Given the description of an element on the screen output the (x, y) to click on. 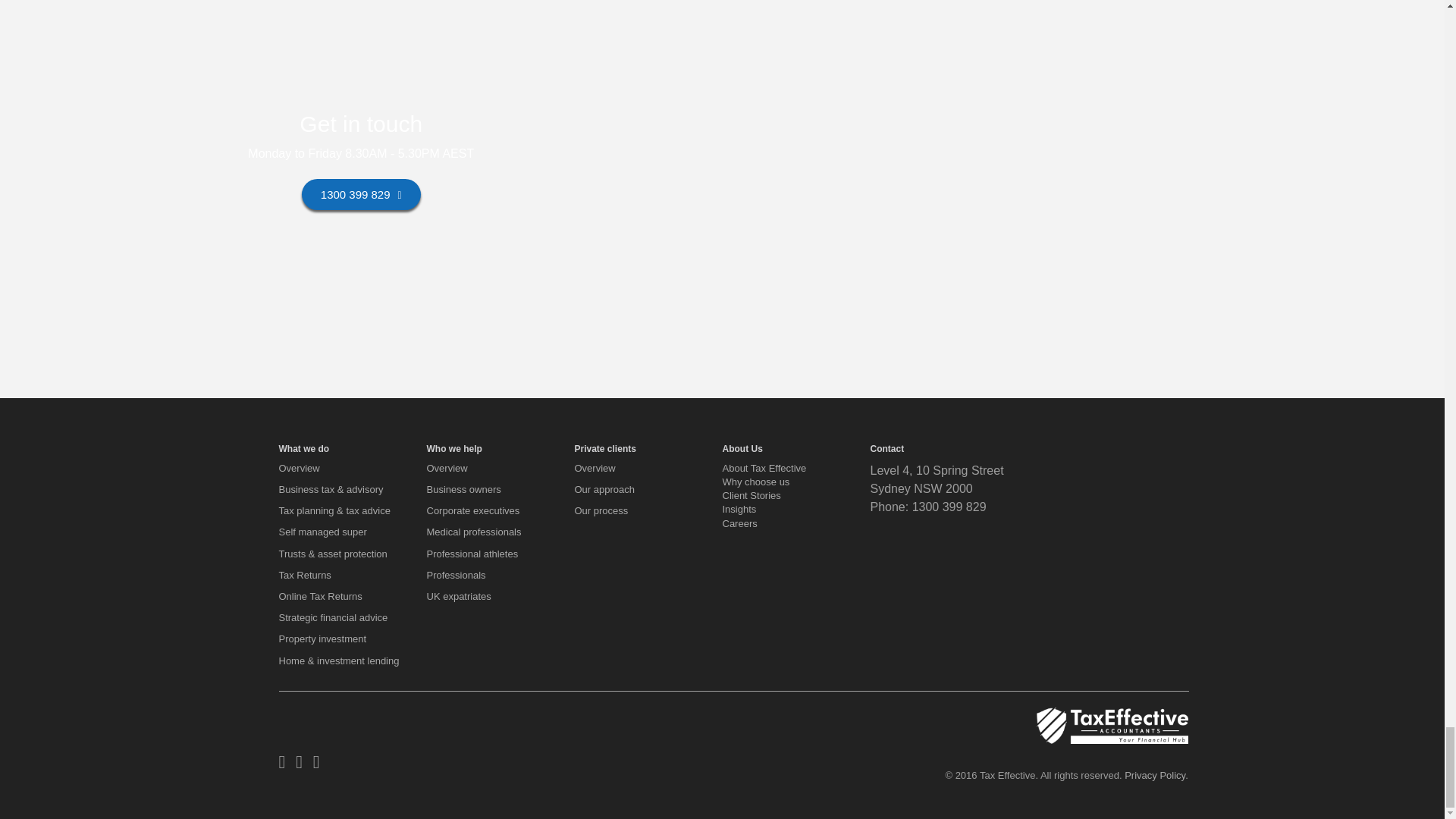
Accountants Sydney (1112, 725)
Insights (738, 509)
About Tax Effective (764, 468)
Privacy Policy (1154, 775)
Client Stories (751, 495)
Why Choose Us (755, 481)
